Given the description of an element on the screen output the (x, y) to click on. 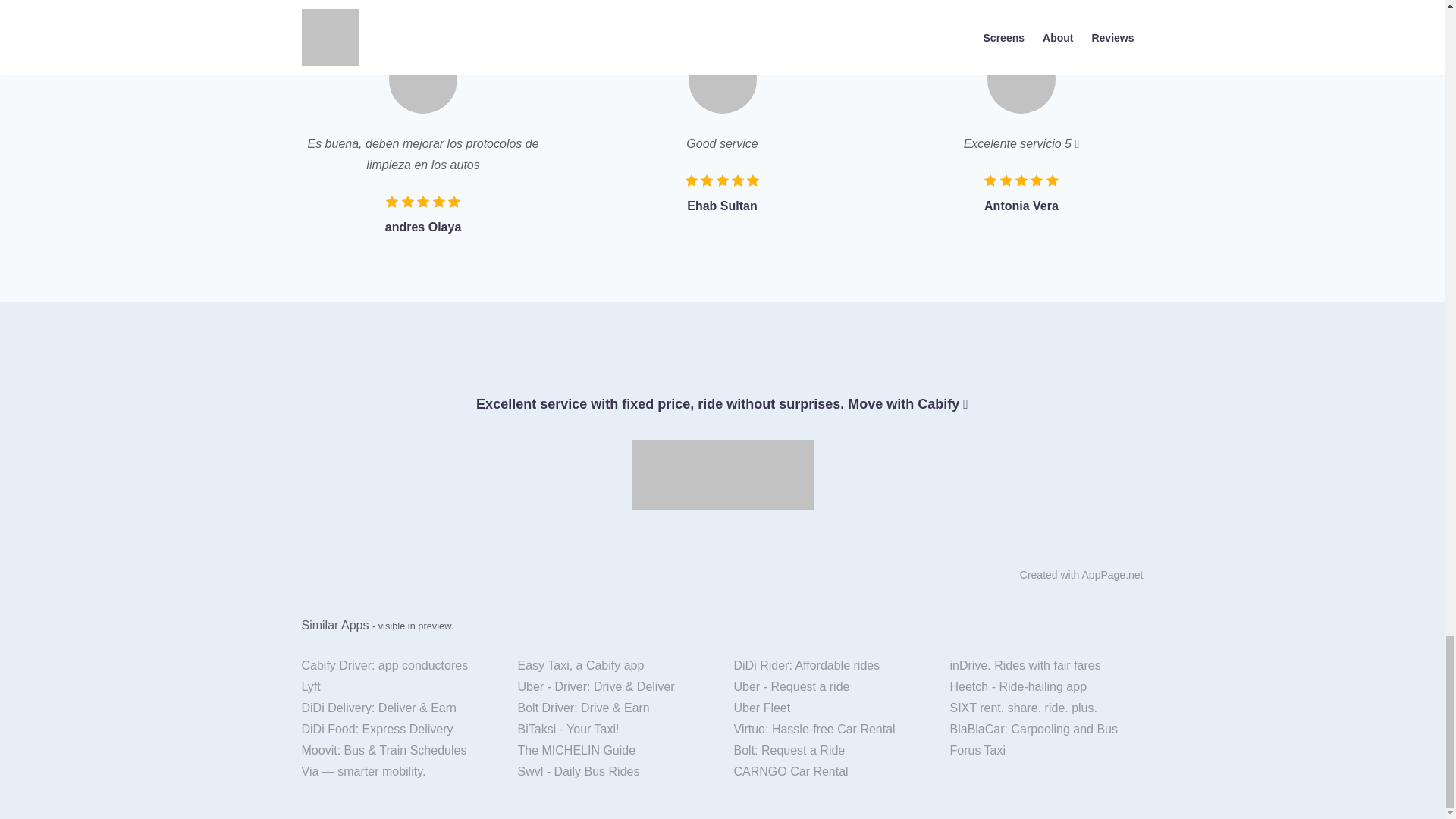
SIXT rent. share. ride. plus. (1046, 708)
DiDi Rider: Affordable rides (829, 665)
Heetch - Ride-hailing app (1046, 686)
CARNGO Car Rental (829, 771)
Uber - Request a ride (829, 686)
Lyft (397, 686)
Easy Taxi, a Cabify app (614, 665)
Swvl - Daily Bus Rides (614, 771)
AppPage.net (1111, 574)
inDrive. Rides with fair fares (1046, 665)
